Given the description of an element on the screen output the (x, y) to click on. 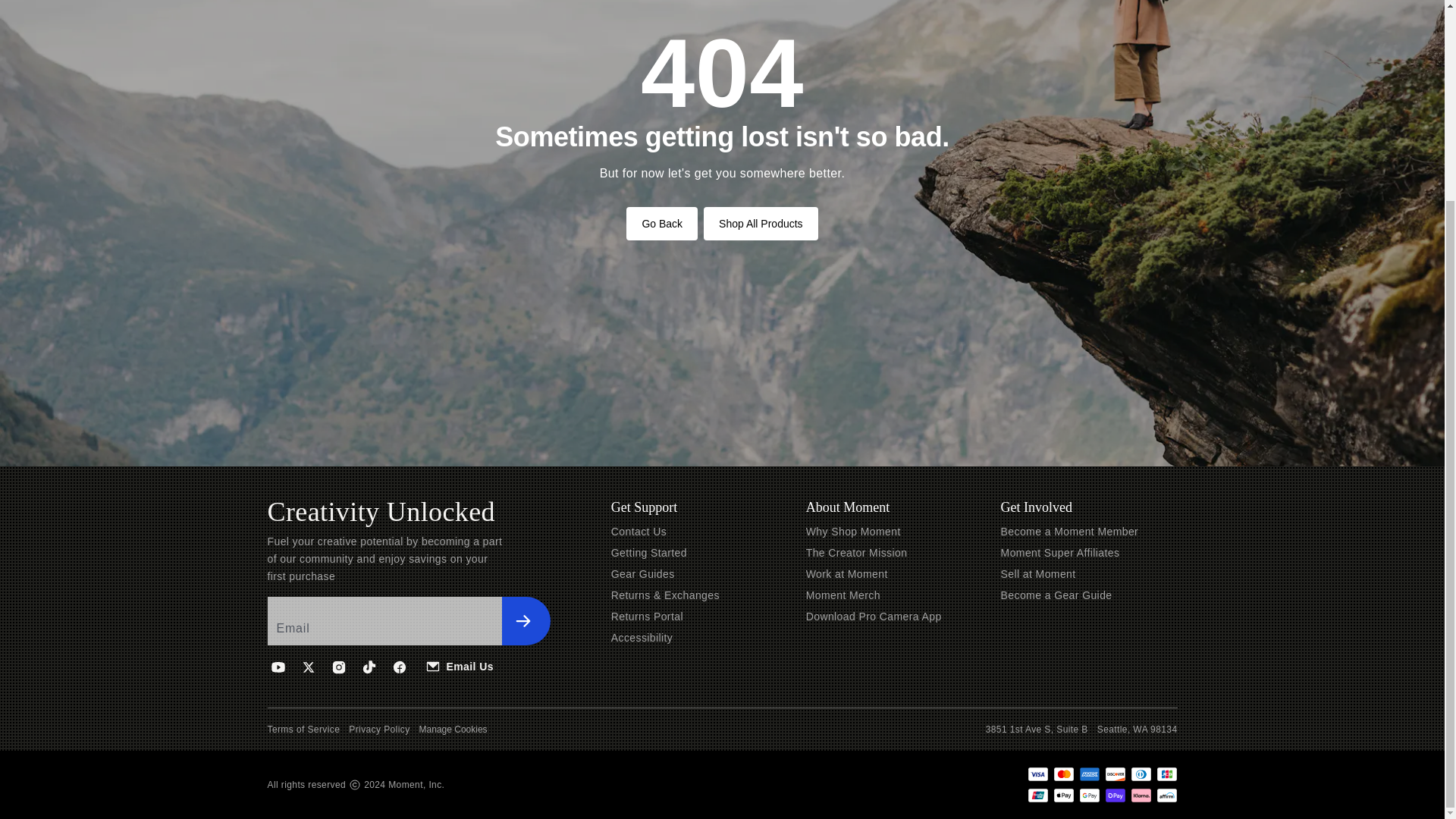
Submit (526, 621)
Privacy Policy (379, 728)
Terms of Service (302, 728)
Become a Gear Guide (1056, 594)
Accessibility (641, 637)
Moment Super Affiliates (1060, 552)
Become a Moment Member (1069, 531)
The Creator Mission (856, 552)
Download Pro Camera App (874, 616)
Returns Portal (646, 616)
Email Us (460, 666)
About Moment (847, 506)
Sell at Moment (1038, 573)
Work at Moment (847, 573)
Get Involved (1036, 506)
